Given the description of an element on the screen output the (x, y) to click on. 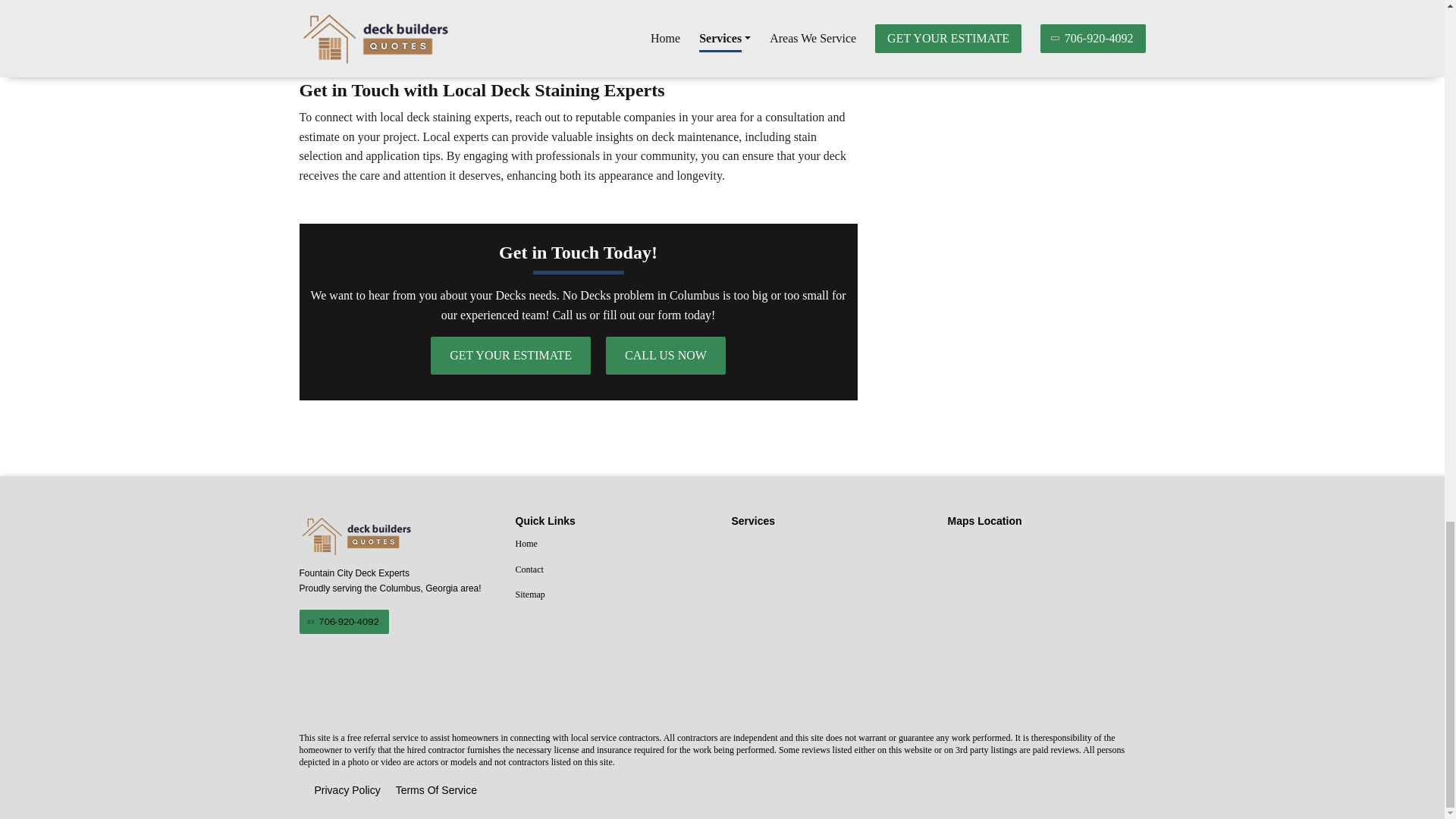
Terms Of Service (436, 790)
CALL US NOW (665, 355)
706-920-4092 (343, 621)
Home (614, 544)
Privacy Policy (347, 790)
Contact (614, 569)
GET YOUR ESTIMATE (510, 355)
Sitemap (614, 595)
